Given the description of an element on the screen output the (x, y) to click on. 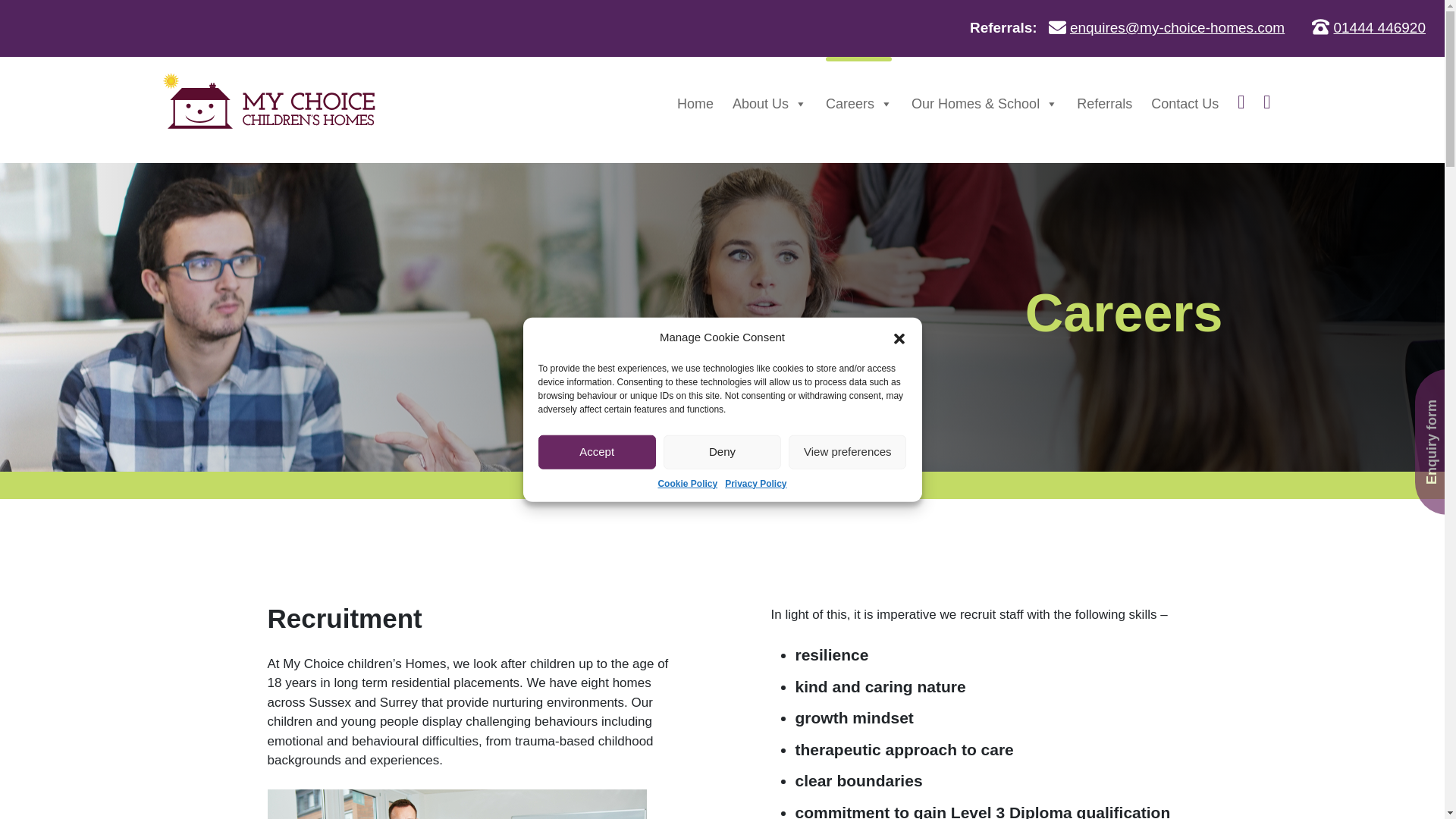
Accept (597, 451)
About Us (769, 103)
Cookie Policy (687, 482)
Deny (721, 451)
Privacy Policy (755, 482)
View preferences (847, 451)
01444 446920 (1379, 27)
